Given the description of an element on the screen output the (x, y) to click on. 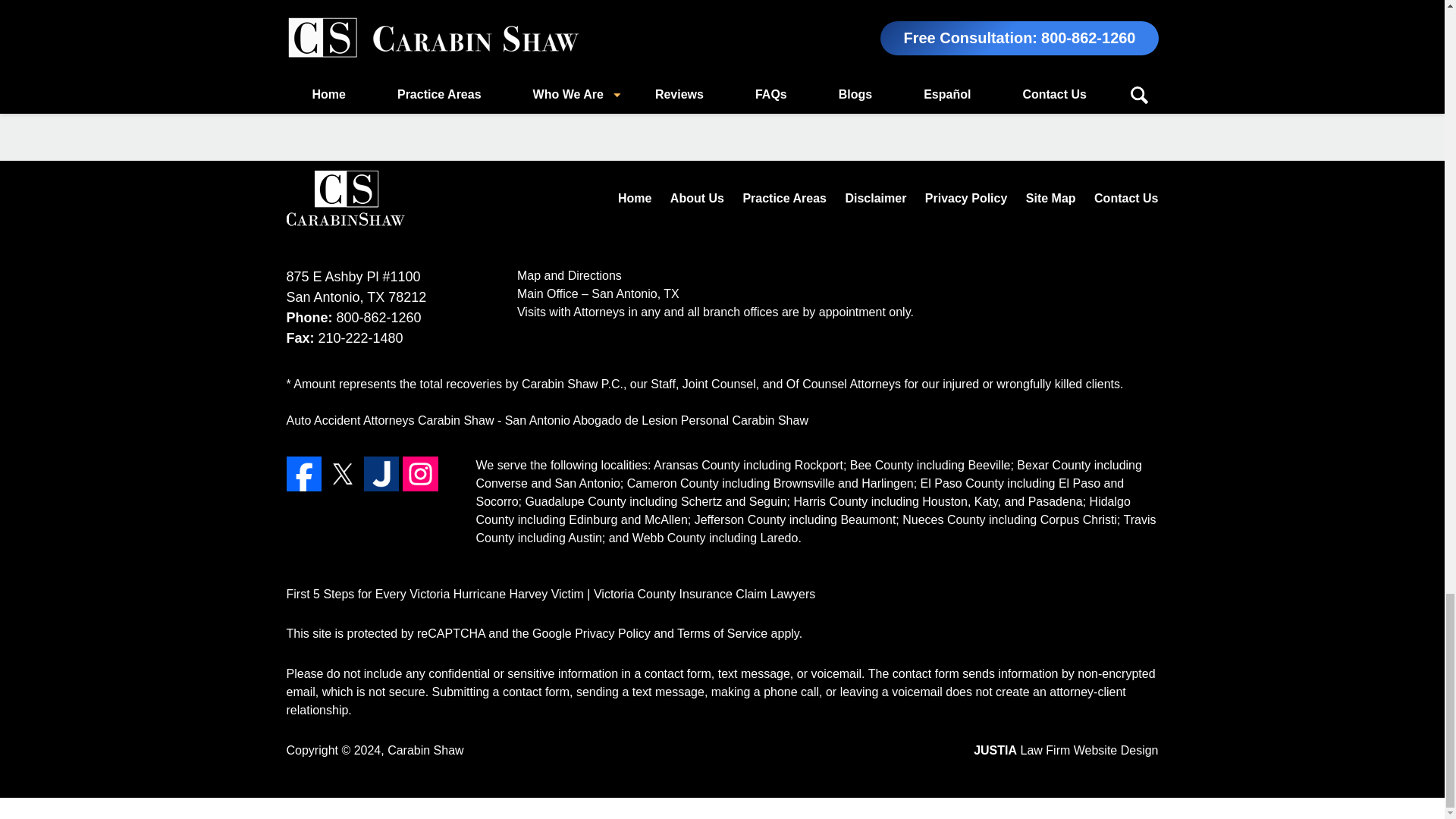
Instagram (420, 473)
Justia (381, 473)
Twitter (341, 473)
Facebook (303, 473)
